Given the description of an element on the screen output the (x, y) to click on. 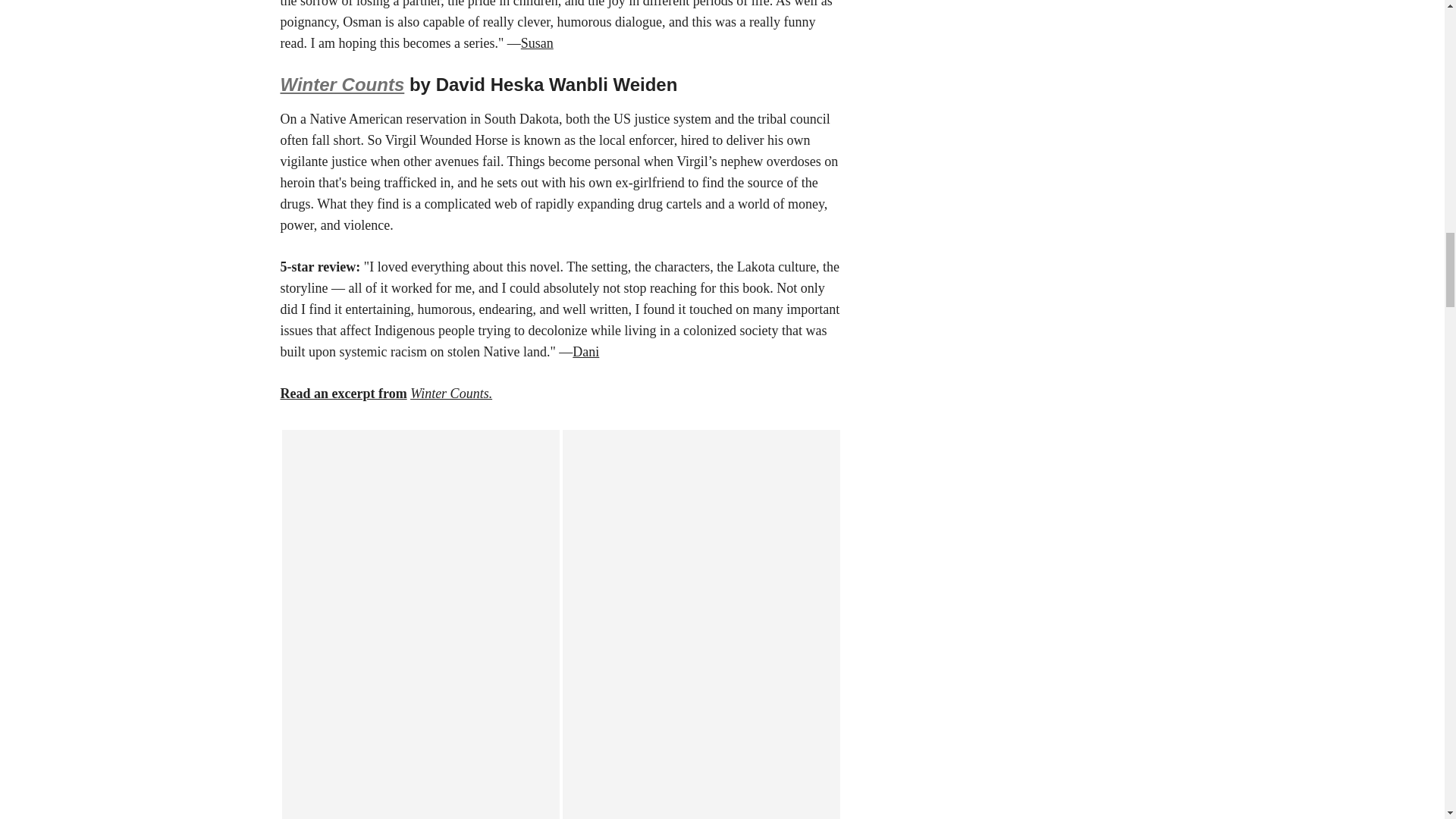
Dani (585, 351)
Susan (537, 43)
Winter Counts (342, 84)
Read an excerpt from (344, 393)
Winter Counts. (451, 393)
